Given the description of an element on the screen output the (x, y) to click on. 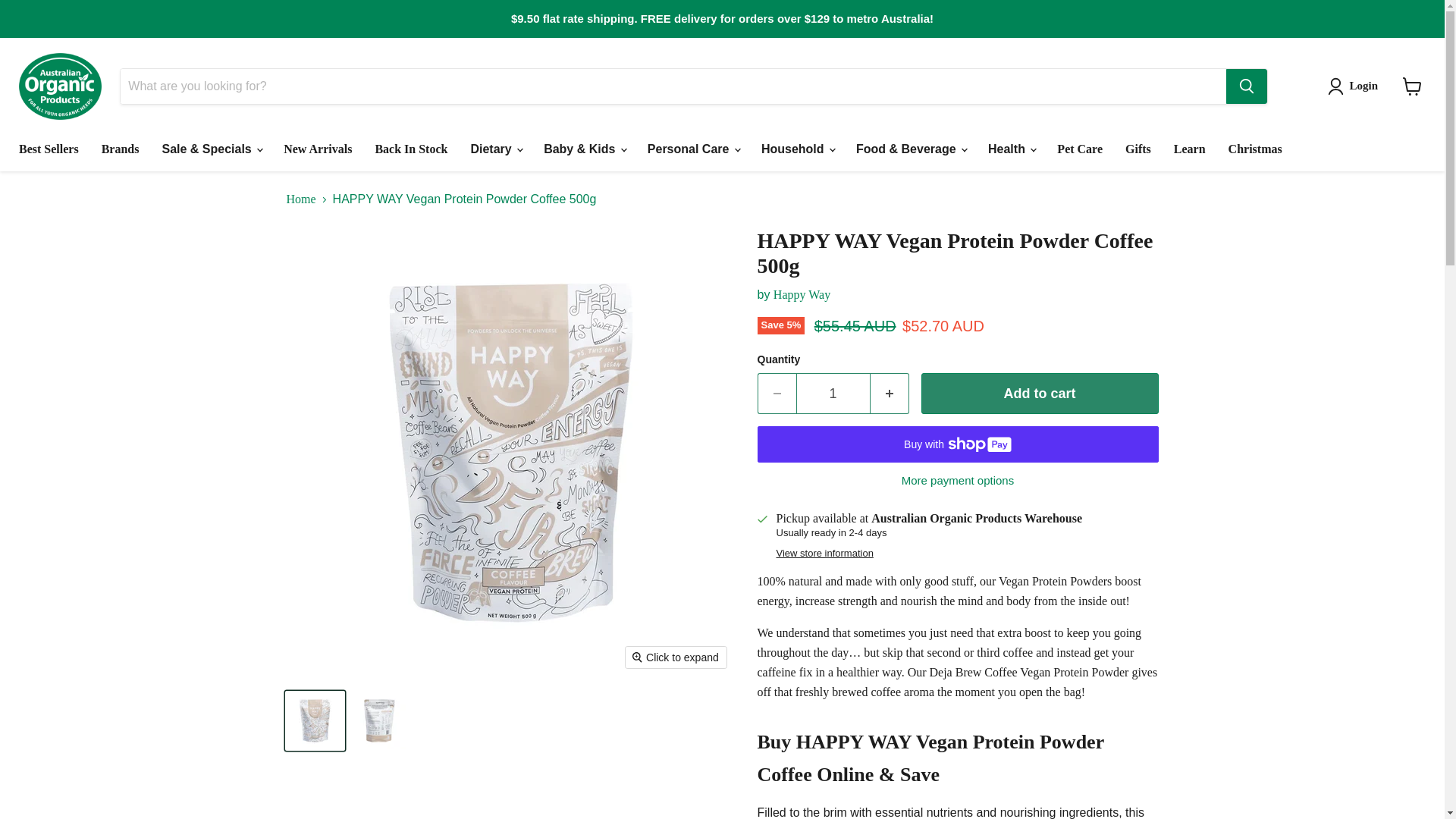
View cart (1411, 86)
Back In Stock (410, 149)
Happy Way (801, 294)
Login (1355, 85)
Best Sellers (48, 149)
1 (833, 393)
New Arrivals (317, 149)
Brands (120, 149)
